Given the description of an element on the screen output the (x, y) to click on. 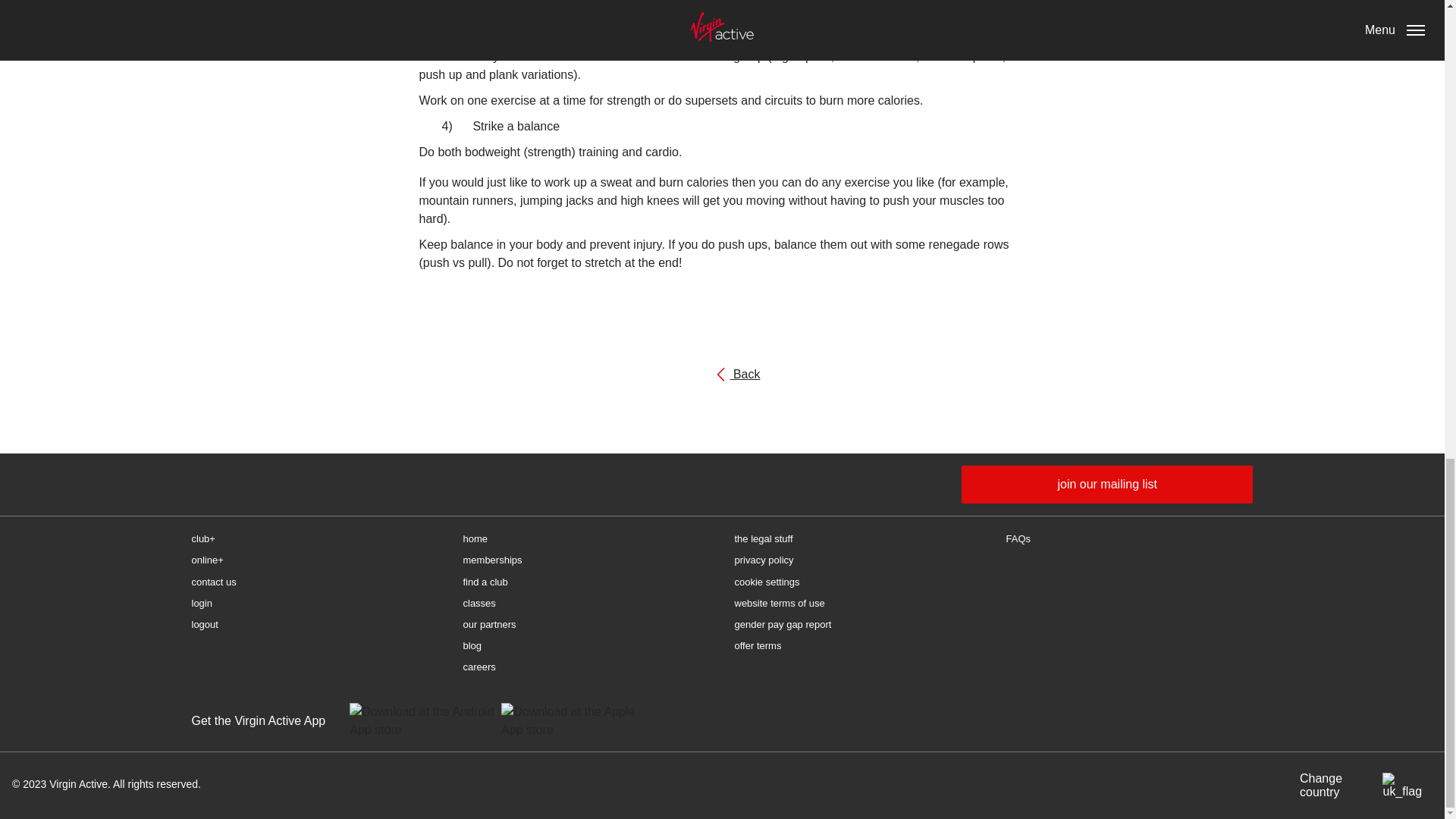
offer terms (722, 373)
careers (857, 645)
logout (586, 667)
the legal stuff (314, 624)
find a club (857, 538)
join our mailing list (586, 581)
login (1106, 484)
blog (314, 603)
gender pay gap report  (586, 645)
home (857, 624)
googleApp (586, 538)
memberships (422, 719)
appleAppIcon (586, 559)
privacy policy (573, 719)
